Given the description of an element on the screen output the (x, y) to click on. 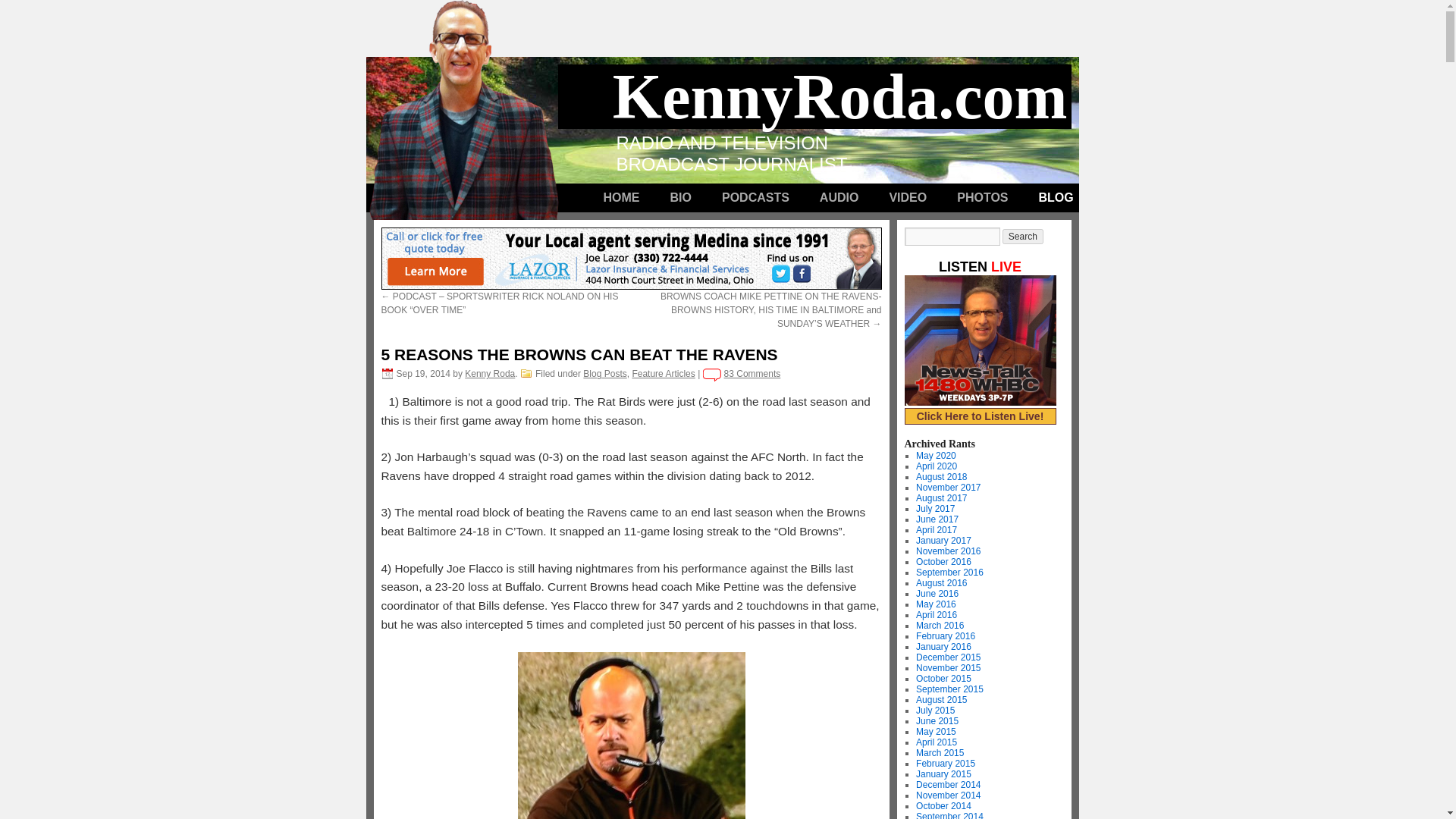
Kenny Roda (489, 373)
AUDIO (840, 197)
PODCASTS (755, 197)
Posts by Kenny Roda (489, 373)
BIO (680, 197)
Please visit our sponsors (630, 258)
HOME (621, 197)
Blog Posts (604, 373)
Feature Articles (662, 373)
Search (1023, 236)
KennyRoda.com (841, 96)
KennyRoda.com (841, 96)
About Kenny Roda (680, 197)
PHOTOS (982, 197)
VIDEO (907, 197)
